Given the description of an element on the screen output the (x, y) to click on. 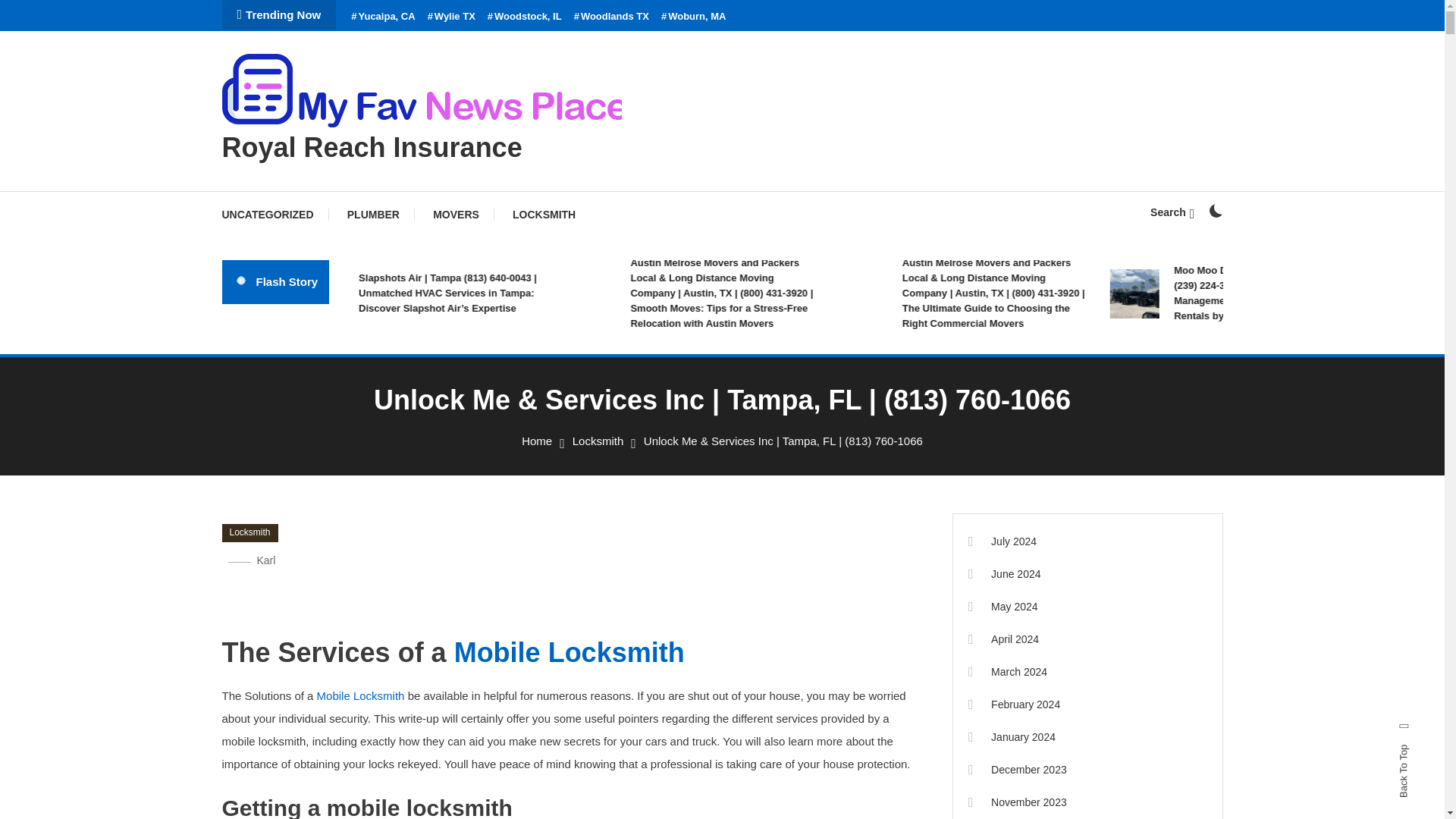
Woodlands TX (611, 16)
PLUMBER (372, 214)
Home (536, 440)
UNCATEGORIZED (275, 214)
Search (768, 434)
Search (1171, 212)
Royal Reach Insurance (371, 146)
Locksmith (249, 533)
Karl (265, 560)
LOCKSMITH (544, 214)
Woburn, MA (693, 16)
Locksmith (598, 440)
Yucaipa, CA (382, 16)
Wylie TX (452, 16)
Woodstock, IL (524, 16)
